Given the description of an element on the screen output the (x, y) to click on. 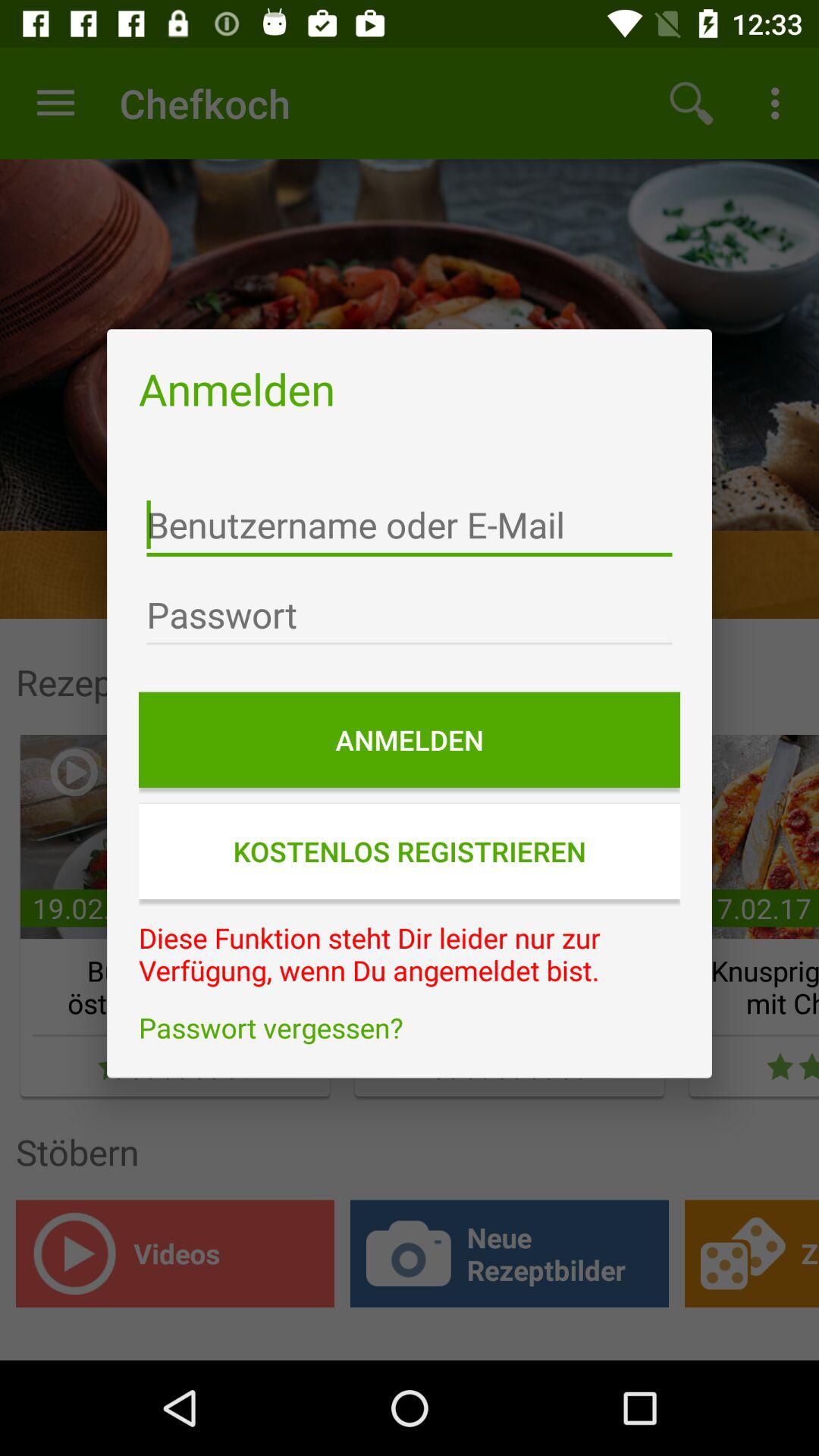
enter password (409, 615)
